Given the description of an element on the screen output the (x, y) to click on. 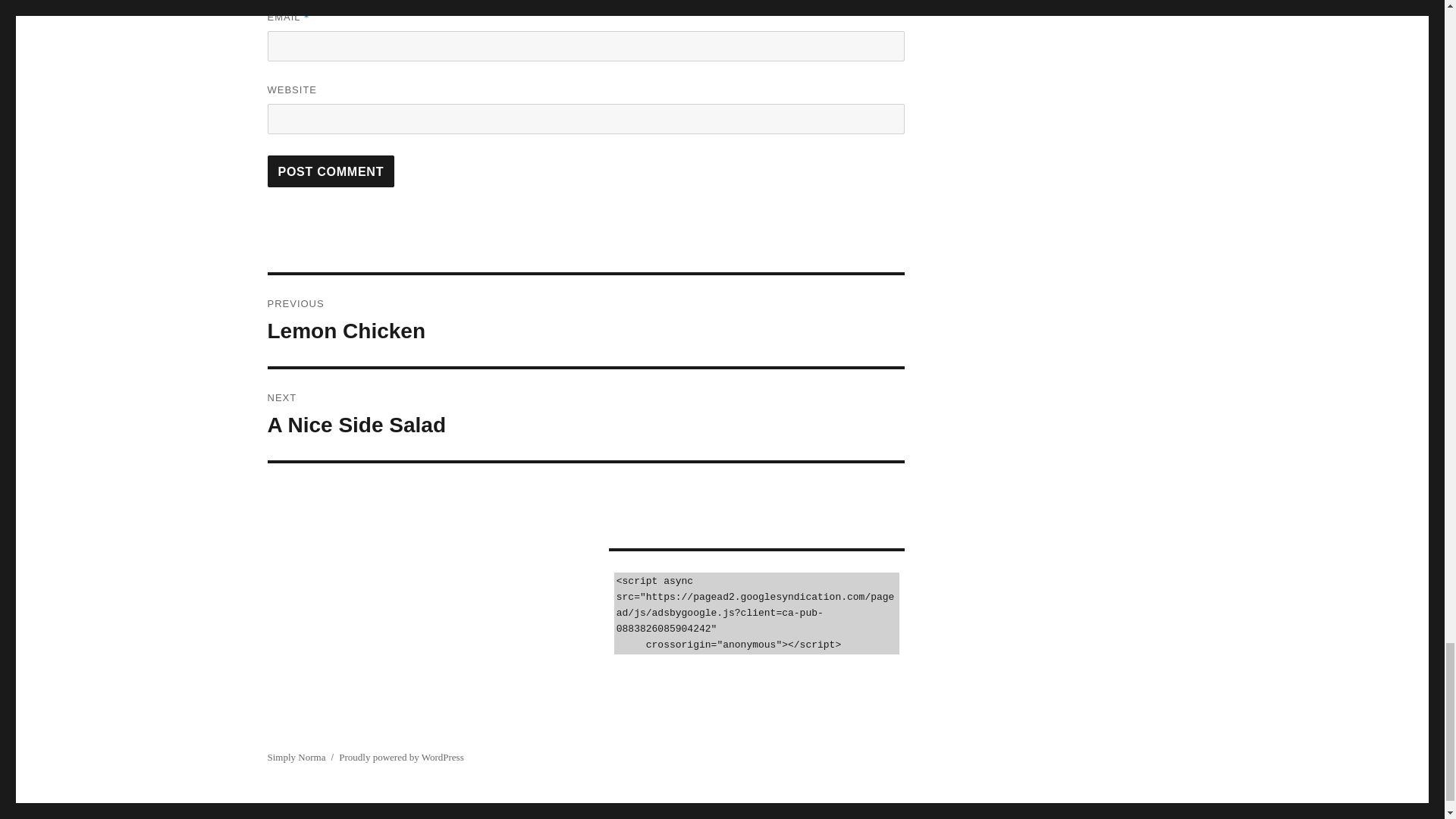
Post Comment (330, 171)
Post Comment (585, 320)
